Given the description of an element on the screen output the (x, y) to click on. 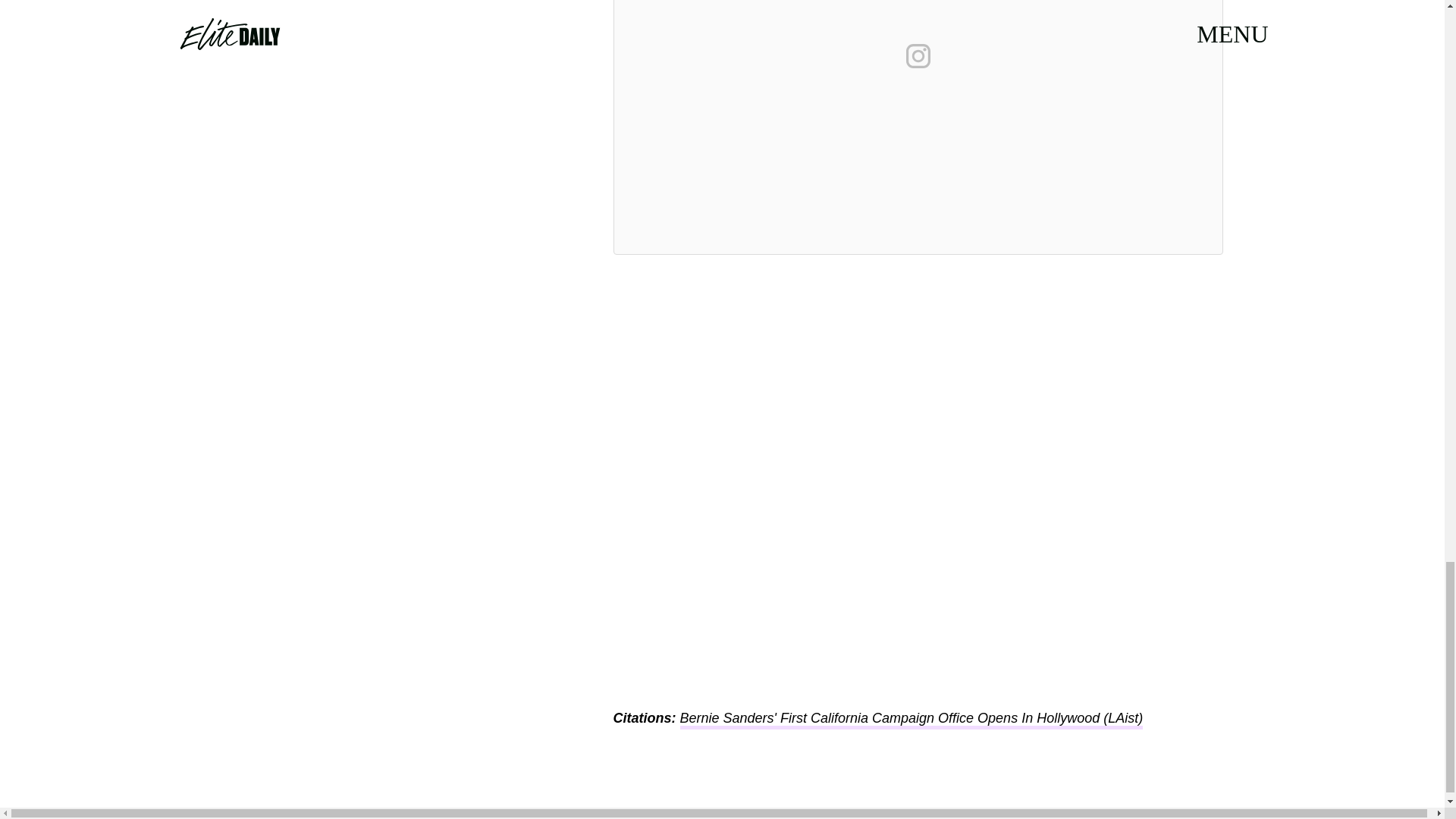
View on Instagram (917, 55)
